Given the description of an element on the screen output the (x, y) to click on. 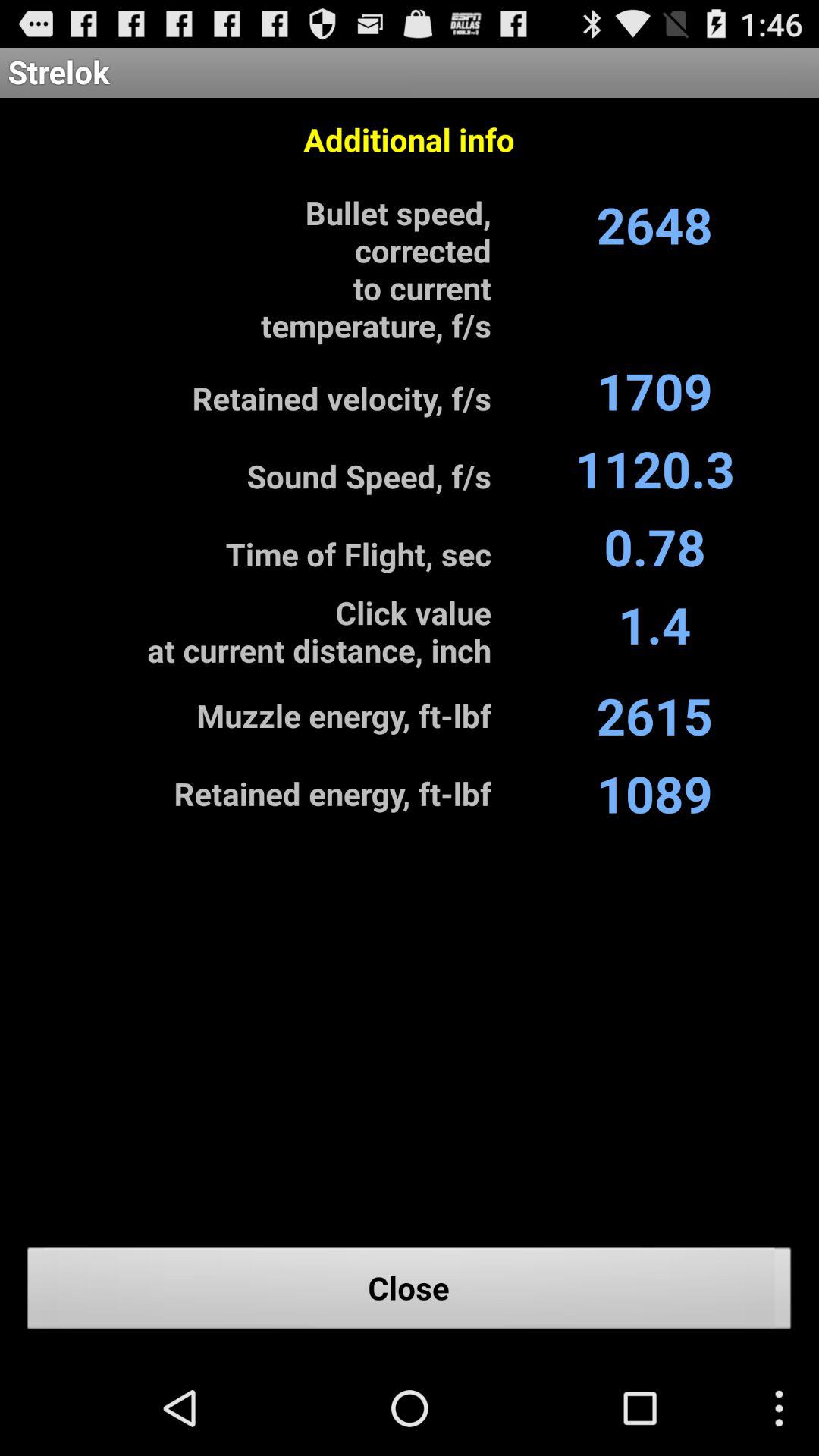
click the close button (409, 1292)
